Given the description of an element on the screen output the (x, y) to click on. 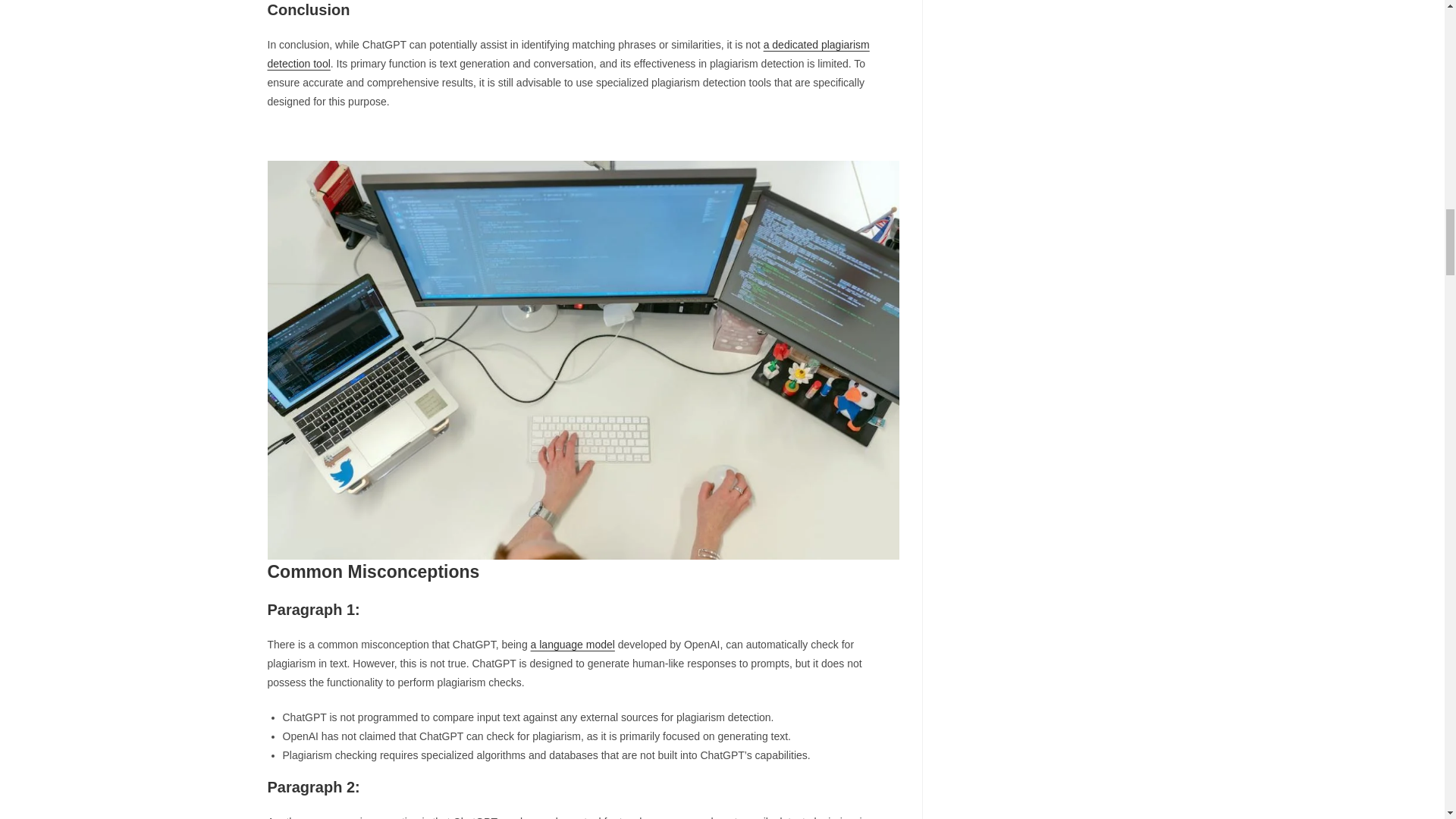
a dedicated plagiarism detection tool (567, 53)
a language model (572, 644)
